Given the description of an element on the screen output the (x, y) to click on. 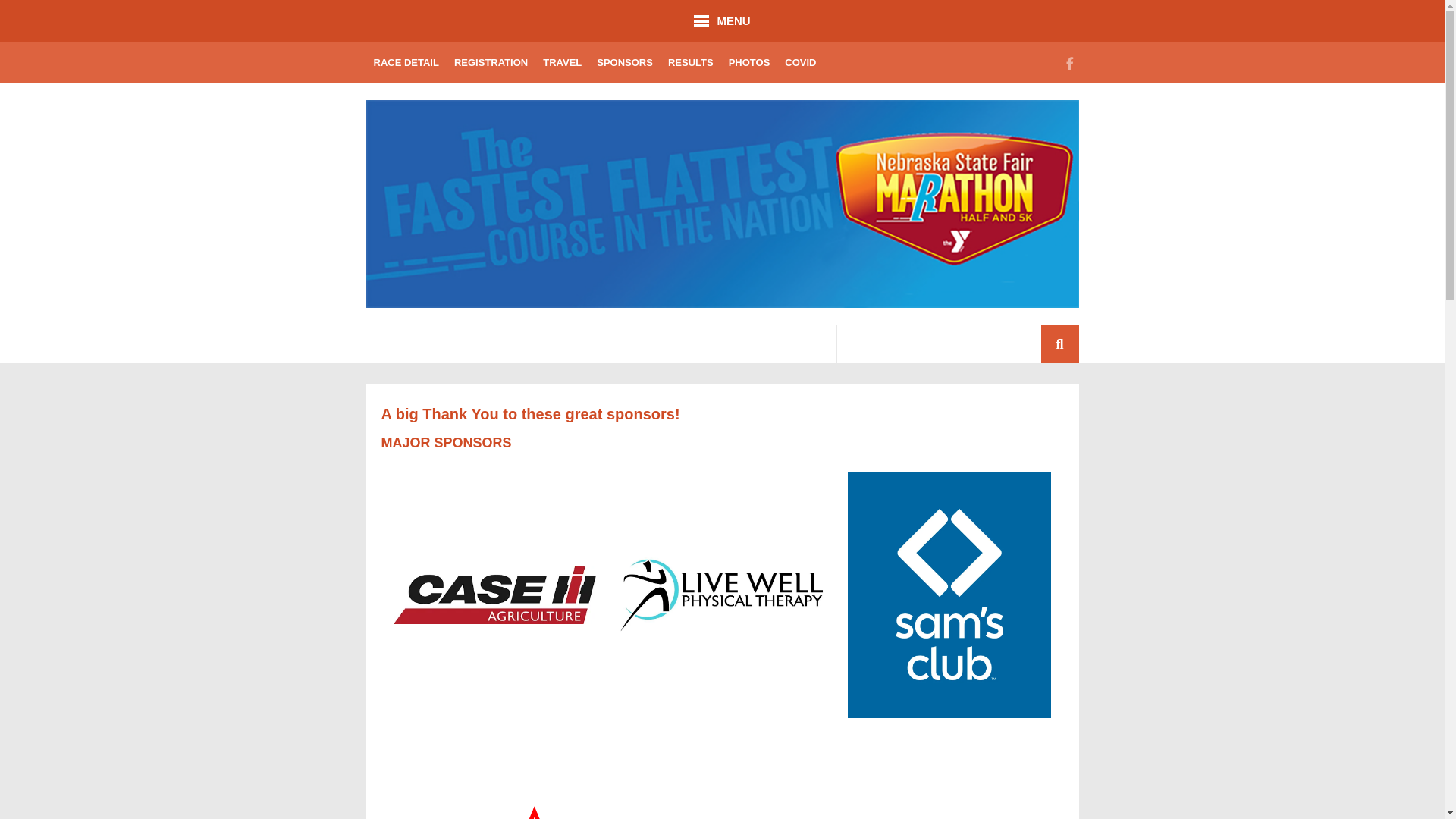
RACE DETAIL (405, 62)
SPONSORS (625, 62)
PHOTOS (748, 62)
COVID (800, 62)
RESULTS (690, 62)
REGISTRATION (490, 62)
TRAVEL (562, 62)
